Given the description of an element on the screen output the (x, y) to click on. 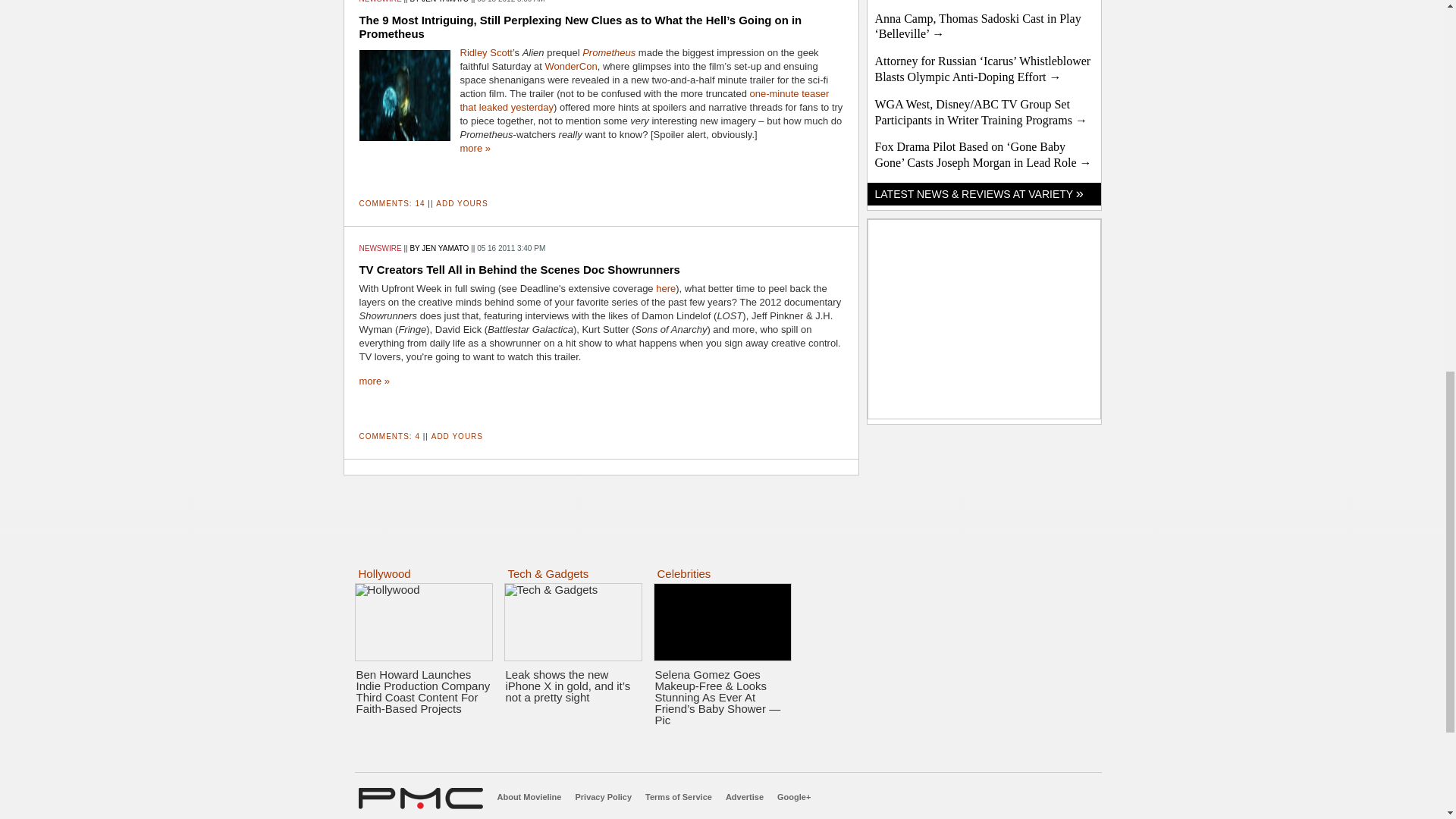
Variety Film (982, 68)
Variety Film (978, 26)
Variety Film (983, 154)
Variety Film (981, 111)
